Given the description of an element on the screen output the (x, y) to click on. 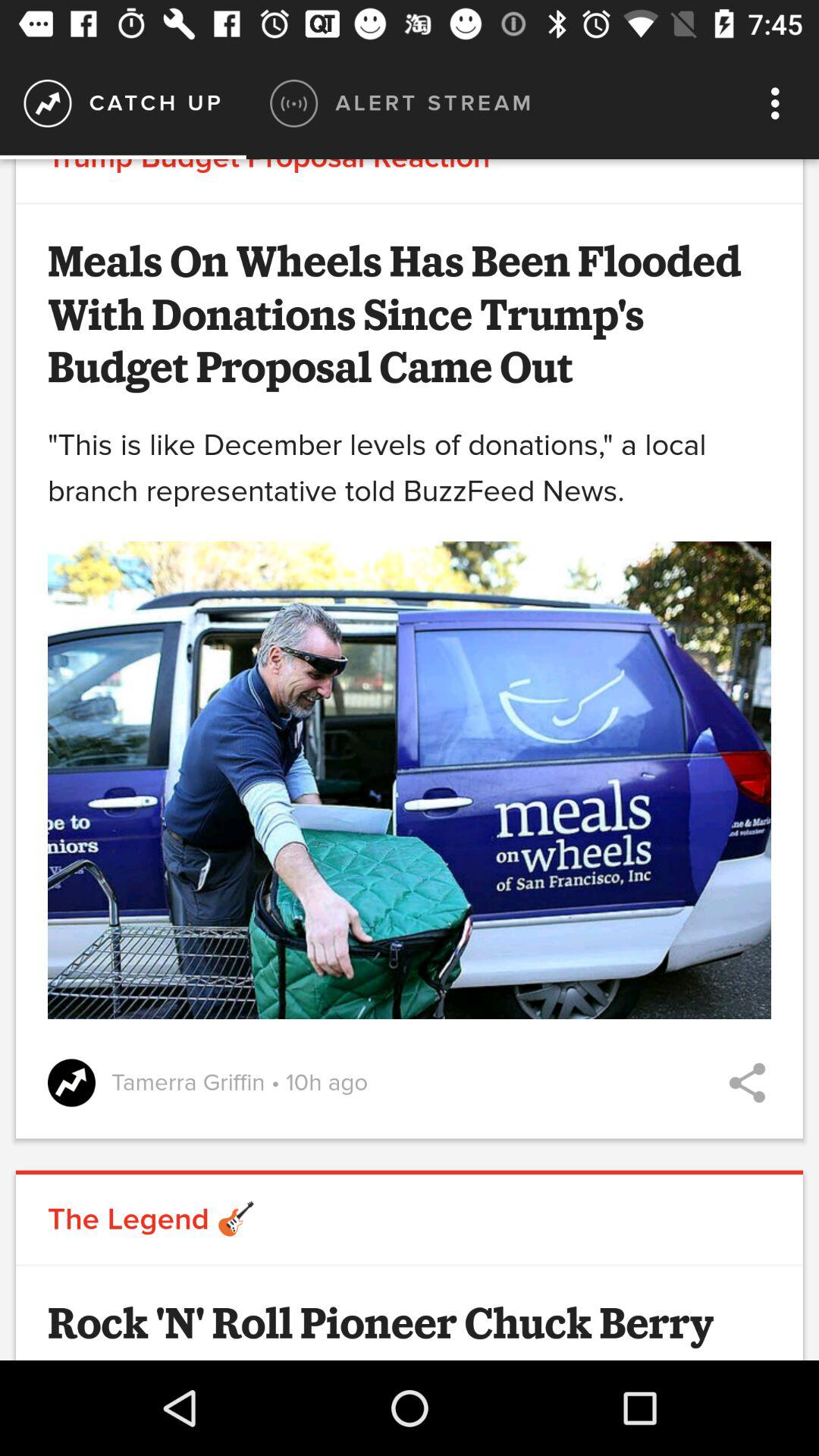
share article (747, 1082)
